Given the description of an element on the screen output the (x, y) to click on. 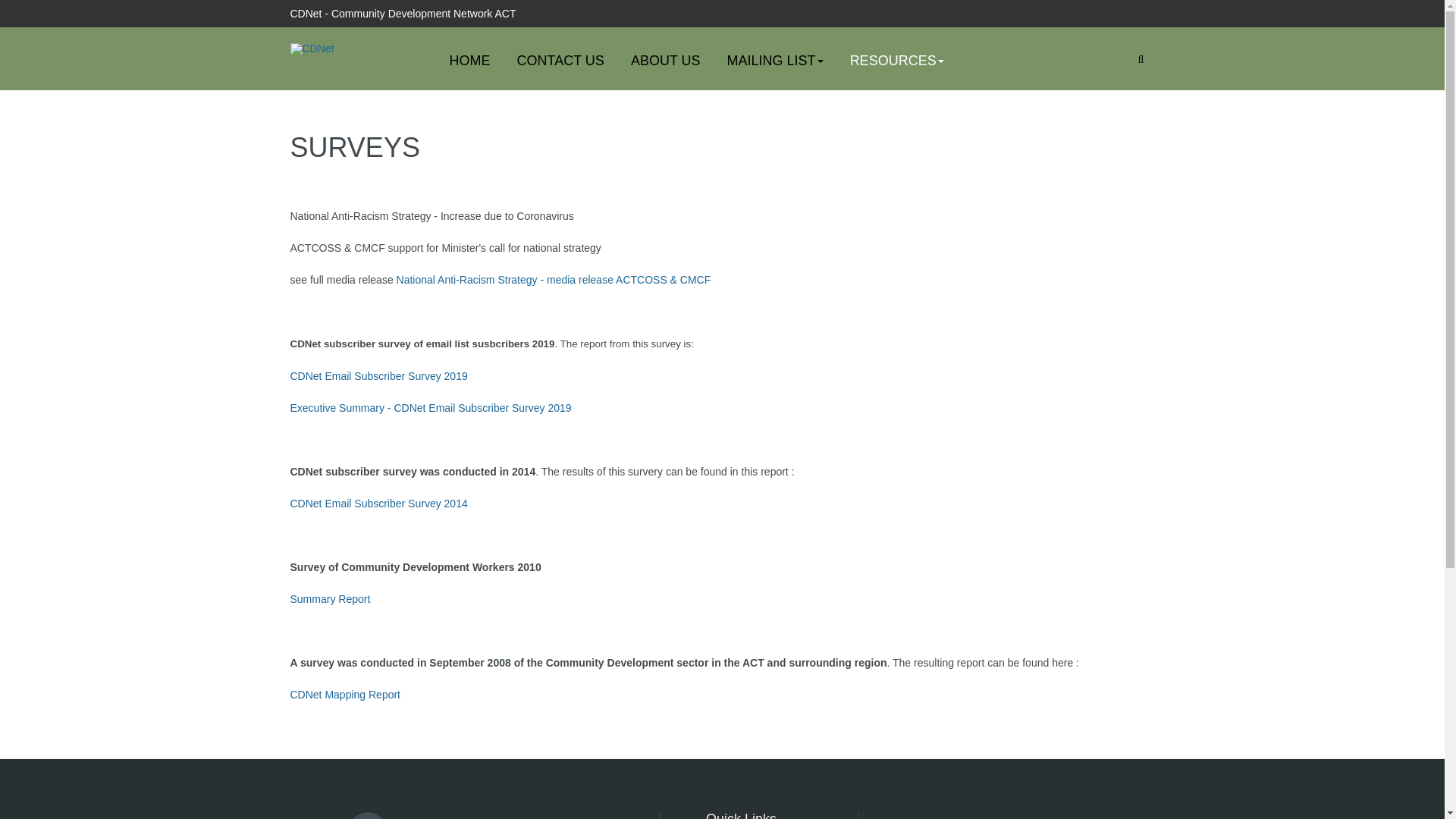
CDNet Element type: hover (311, 49)
ABOUT US Element type: text (665, 60)
RESOURCES Element type: text (896, 60)
CDNet Mapping Report Element type: text (344, 694)
CDNet Email Subscriber Survey 2014 Element type: text (378, 503)
MAILING LIST Element type: text (774, 60)
HOME Element type: text (470, 60)
Summary Report Element type: text (329, 599)
Executive Summary - CDNet Email Subscriber Survey 2019 Element type: text (430, 407)
National Anti-Racism Strategy - media release ACTCOSS & CMCF Element type: text (553, 279)
CDNet Email Subscriber Survey 2019  Element type: text (379, 376)
CONTACT US Element type: text (560, 60)
